Given the description of an element on the screen output the (x, y) to click on. 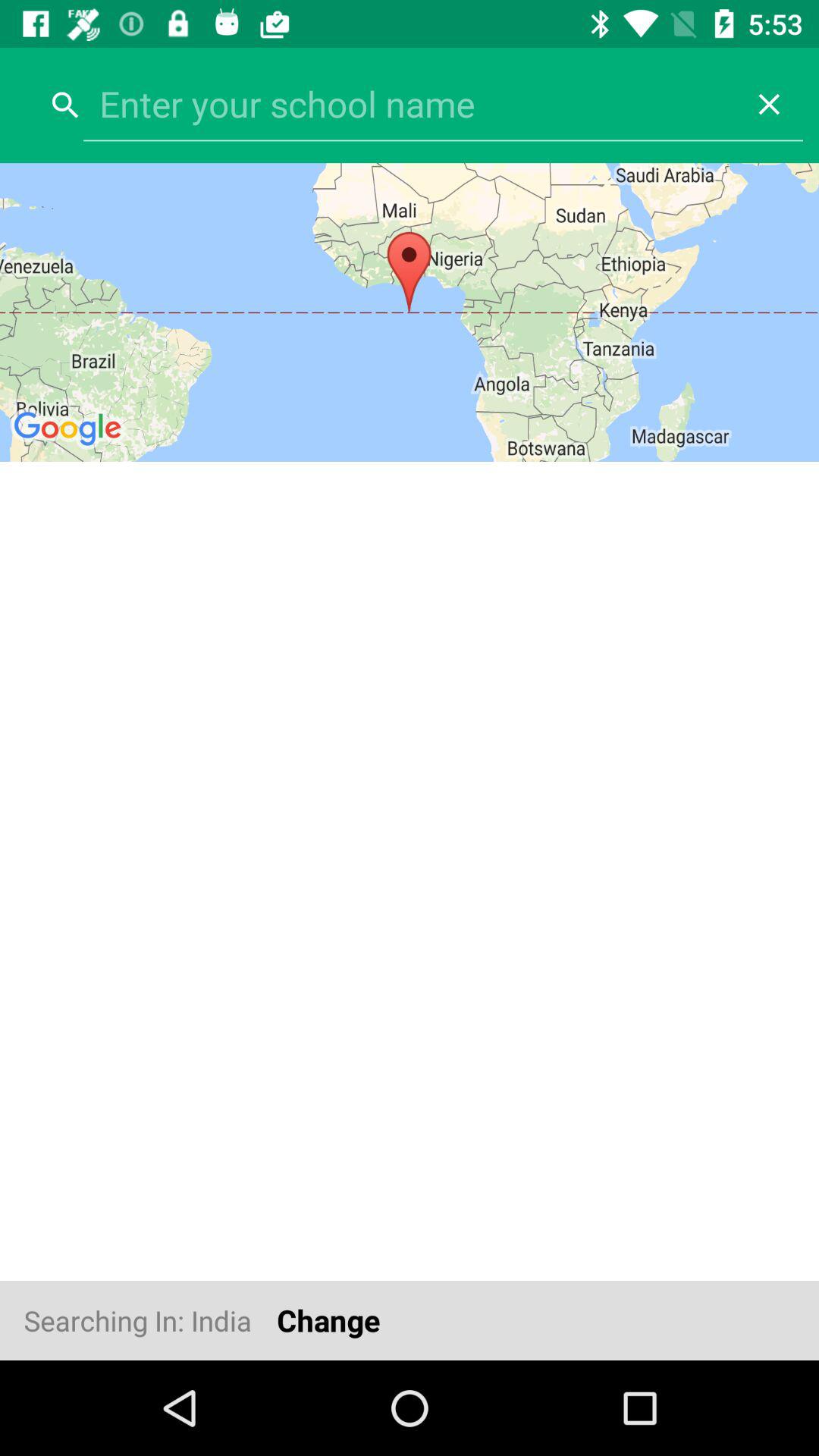
share the school article (409, 103)
